Given the description of an element on the screen output the (x, y) to click on. 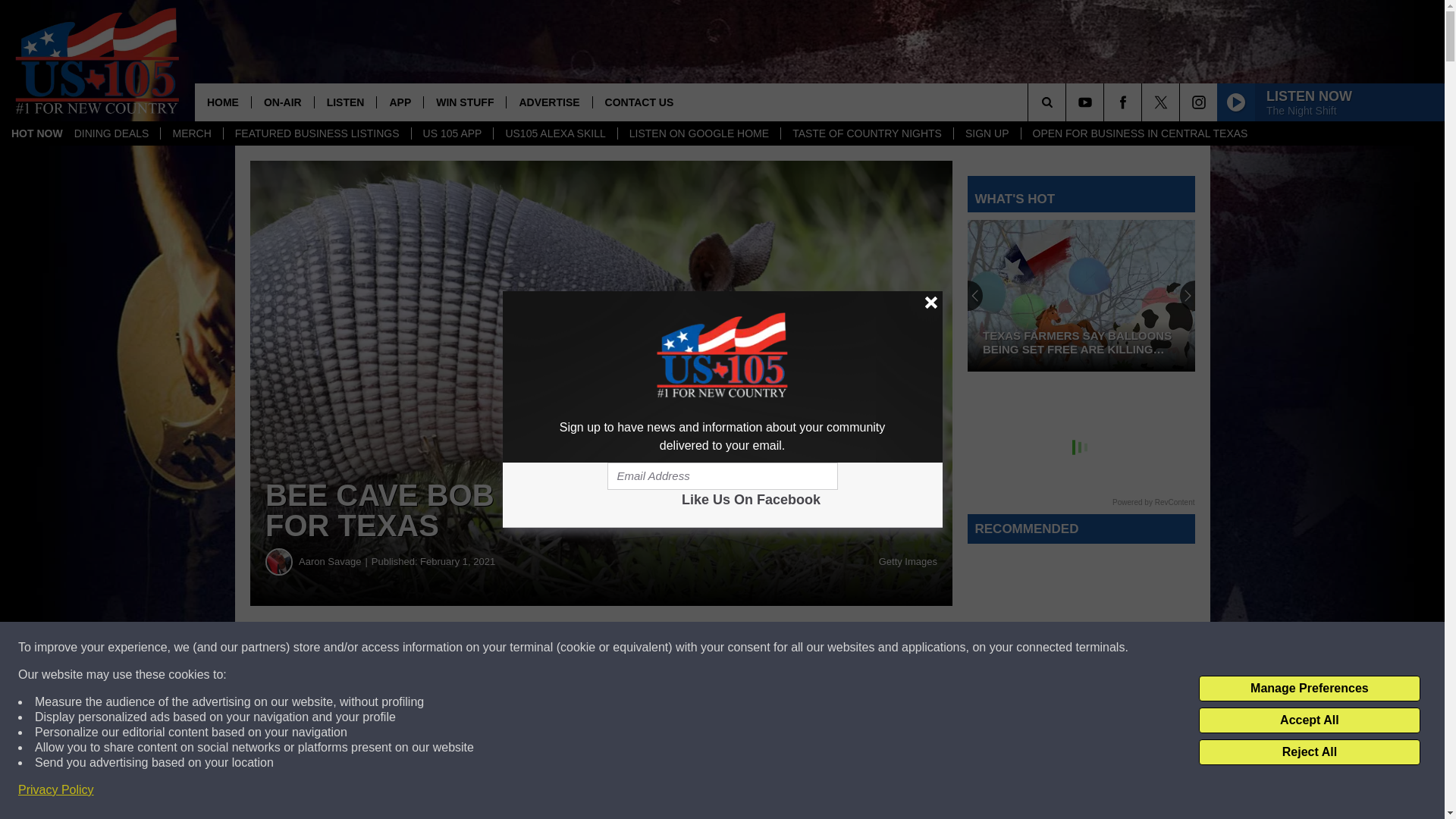
Privacy Policy (55, 789)
SIGN UP (986, 133)
Share on Facebook (460, 647)
LISTEN ON GOOGLE HOME (698, 133)
DINING DEALS (111, 133)
Email Address (722, 475)
HOME (222, 102)
TASTE OF COUNTRY NIGHTS (866, 133)
OPEN FOR BUSINESS IN CENTRAL TEXAS (1139, 133)
MERCH (191, 133)
US105 ALEXA SKILL (554, 133)
LISTEN (345, 102)
SEARCH (1068, 102)
FEATURED BUSINESS LISTINGS (316, 133)
US 105 APP (451, 133)
